Given the description of an element on the screen output the (x, y) to click on. 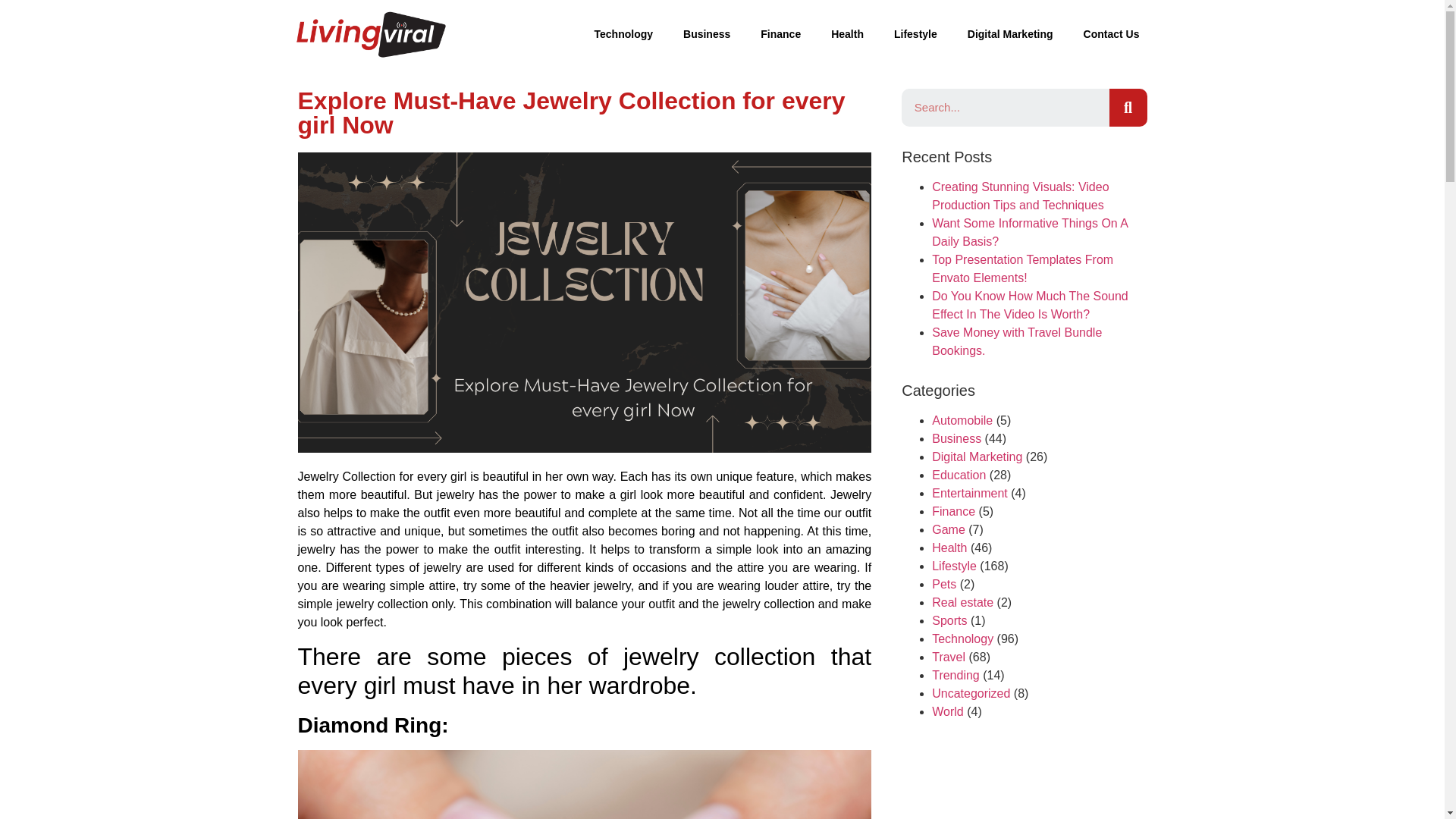
Contact Us (1111, 33)
Finance (953, 511)
Do You Know How Much The Sound Effect In The Video Is Worth? (1029, 305)
Save Money with Travel Bundle Bookings. (1016, 341)
Digital Marketing (1010, 33)
Game (948, 529)
Search (1127, 107)
Lifestyle (915, 33)
Health (847, 33)
Education (958, 474)
